Given the description of an element on the screen output the (x, y) to click on. 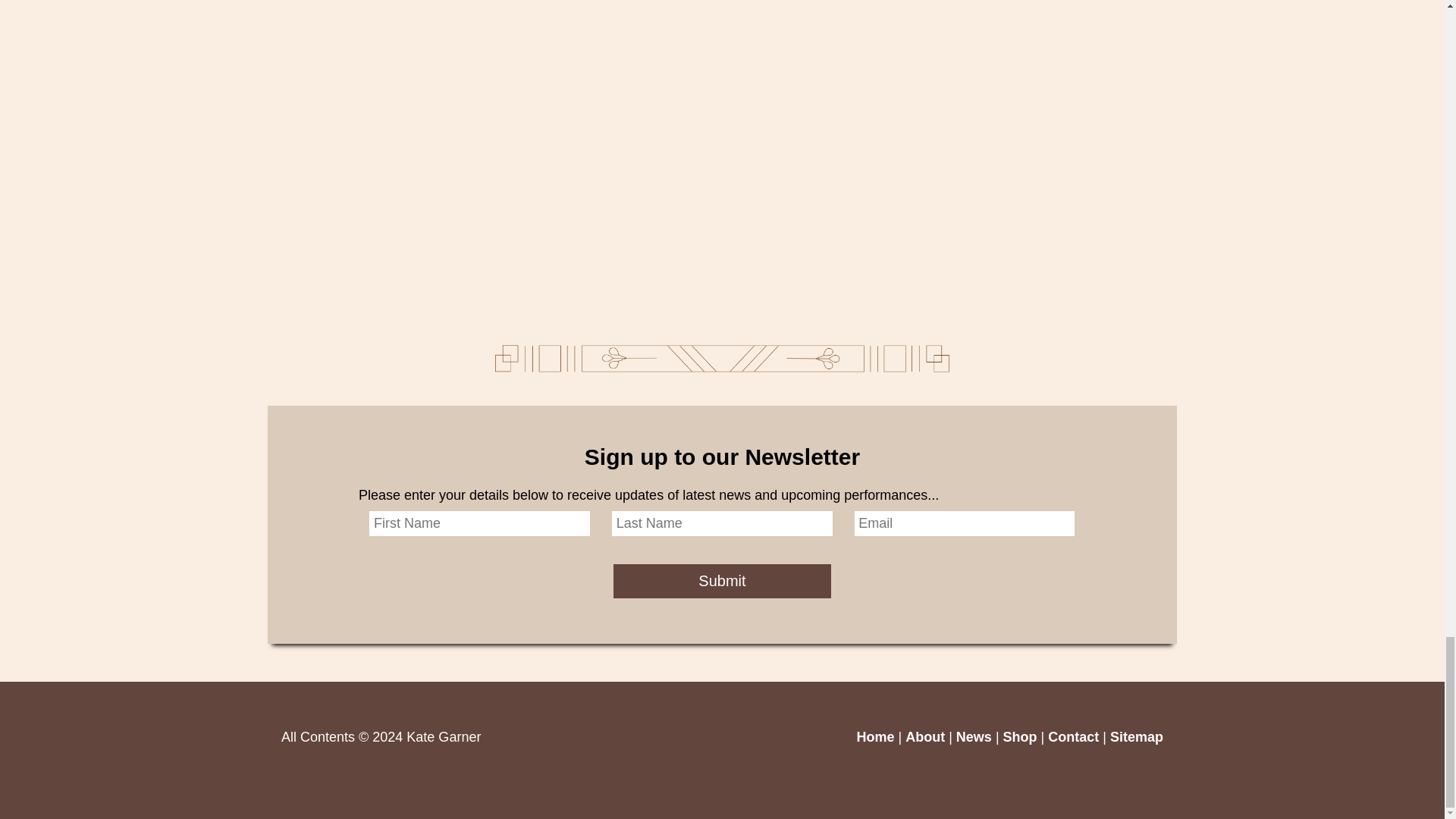
Contact (1073, 736)
Home (874, 736)
Submit (721, 581)
News (973, 736)
Shop (1019, 736)
Sitemap (1136, 736)
About (924, 736)
